Given the description of an element on the screen output the (x, y) to click on. 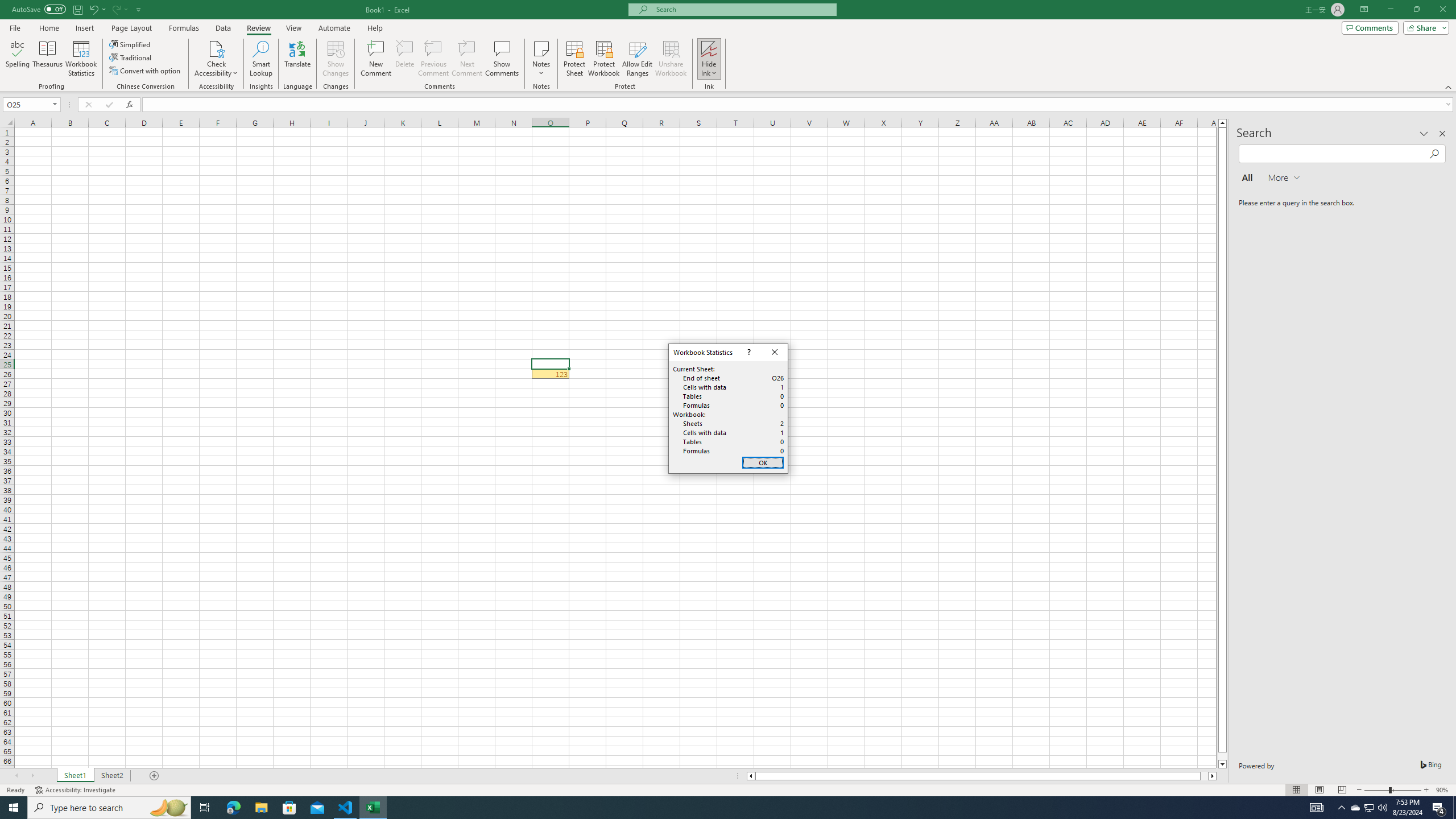
Action Center, 4 new notifications (1355, 807)
Accessibility Checker Accessibility: Investigate (1439, 807)
Search highlights icon opens search home window (76, 790)
Smart Lookup (167, 807)
Allow Edit Ranges (260, 58)
